Given the description of an element on the screen output the (x, y) to click on. 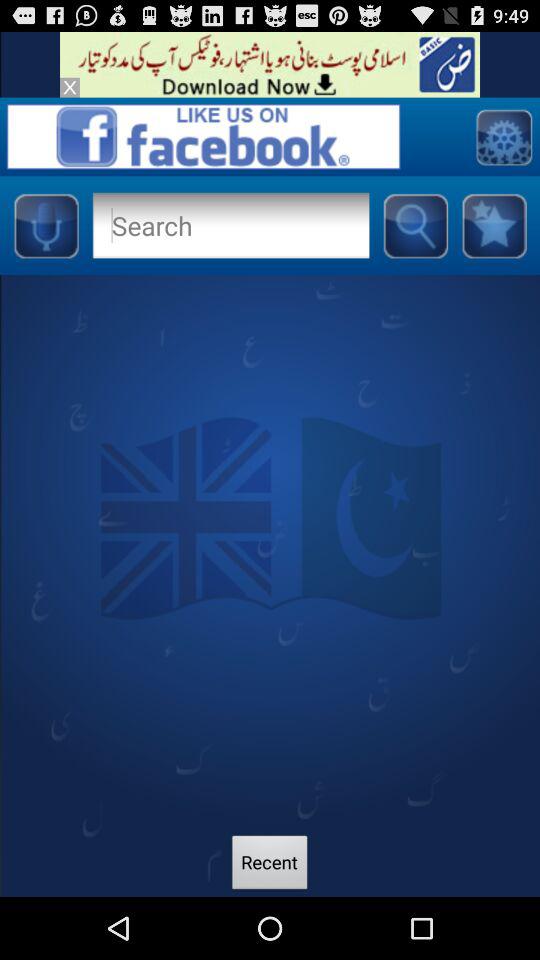
visit banner advertisement (270, 64)
